Given the description of an element on the screen output the (x, y) to click on. 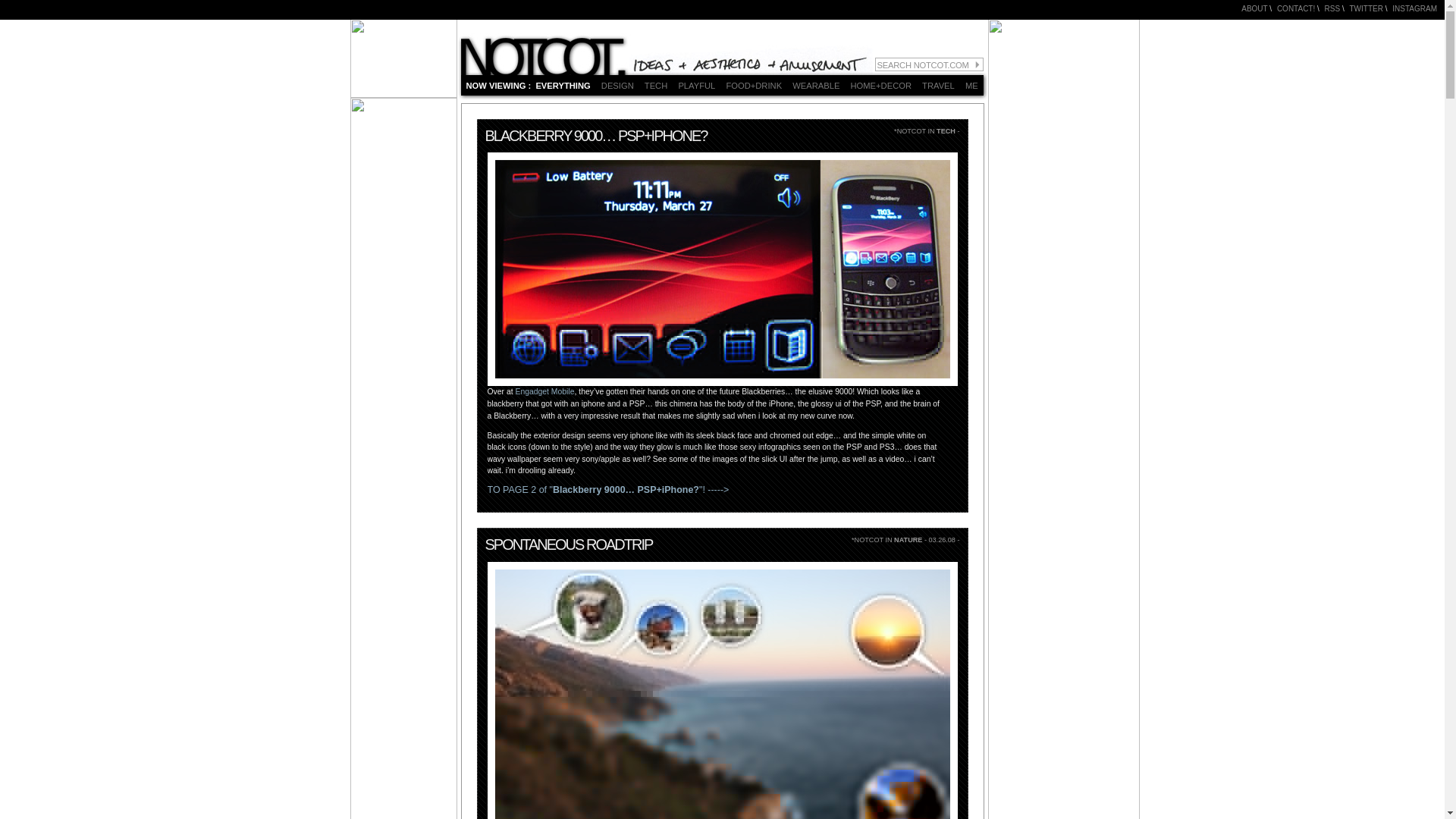
TECH (945, 131)
WEARABLE (817, 85)
TWITTER (1366, 8)
Engadget Mobile (544, 391)
TRAVEL (940, 85)
RSS (1332, 8)
SPONTANEOUS ROADTRIP (568, 544)
DESIGN (619, 85)
ME (973, 85)
ABOUT (1253, 8)
SEARCH NOTCOT.COM (929, 64)
EVERYTHING (563, 85)
CONTACT! (1295, 8)
TECH (657, 85)
PLAYFUL (697, 85)
